Given the description of an element on the screen output the (x, y) to click on. 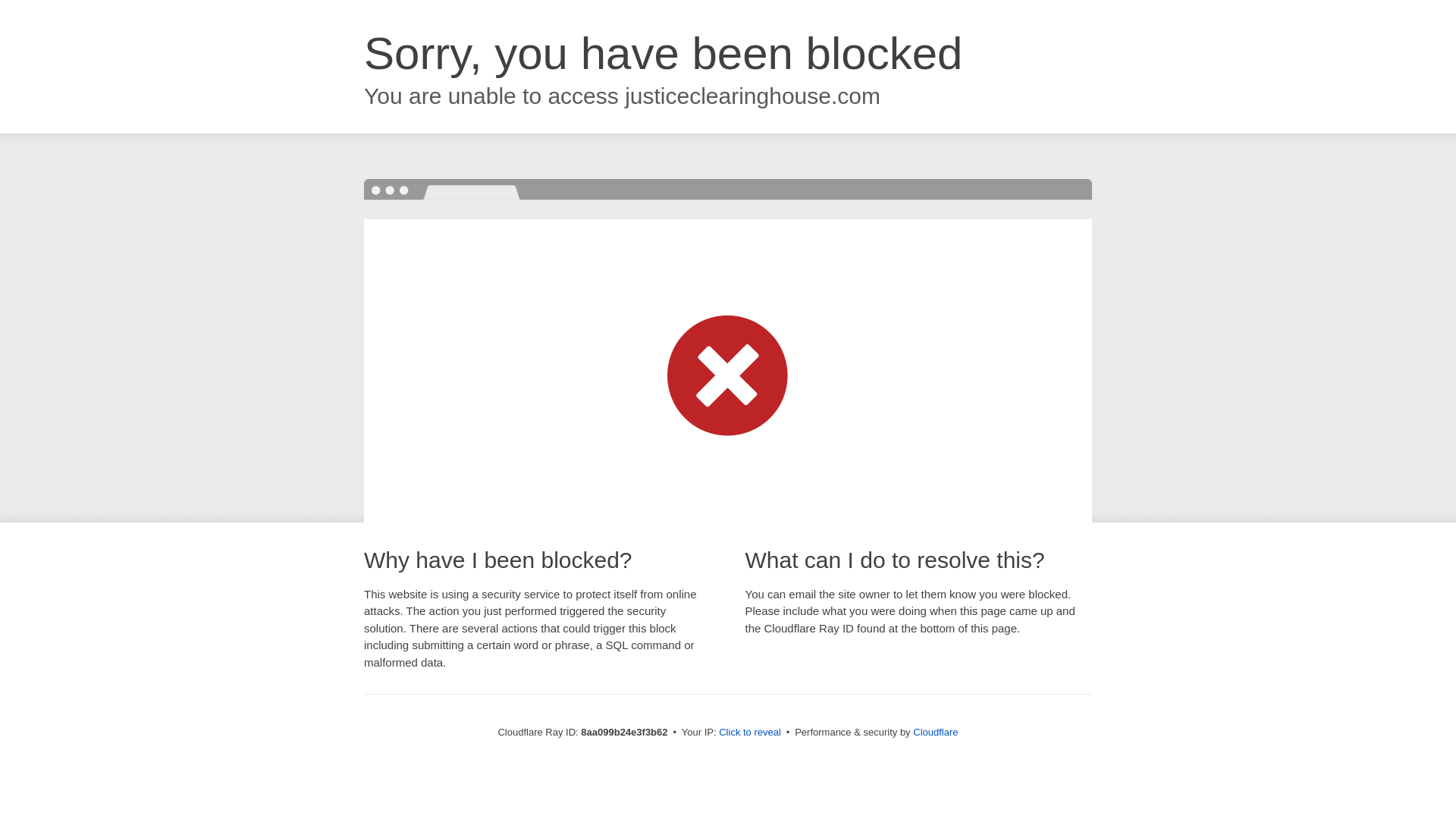
Click to reveal (749, 732)
Cloudflare (935, 731)
